Given the description of an element on the screen output the (x, y) to click on. 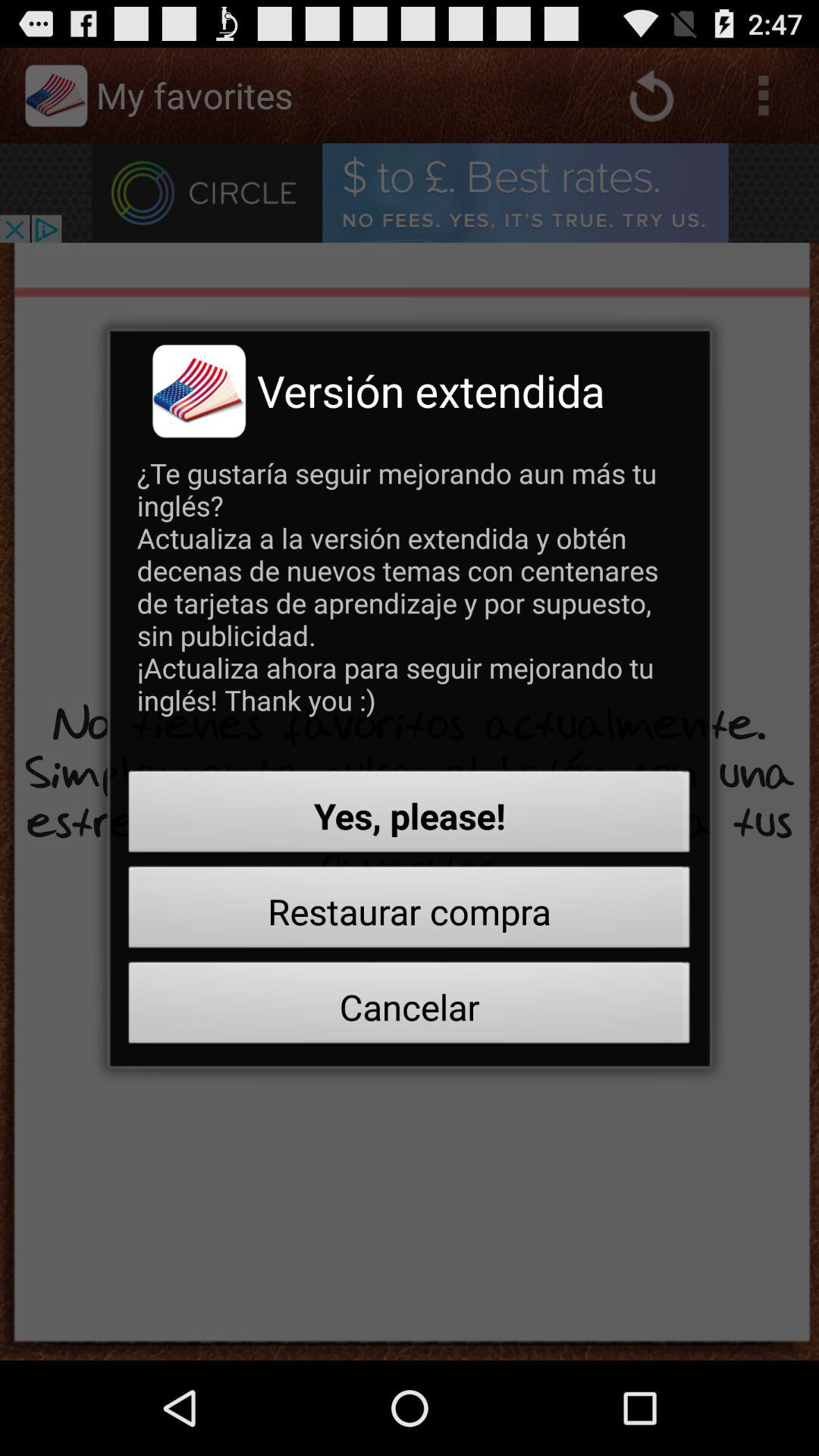
choose button above restaurar compra icon (409, 815)
